Given the description of an element on the screen output the (x, y) to click on. 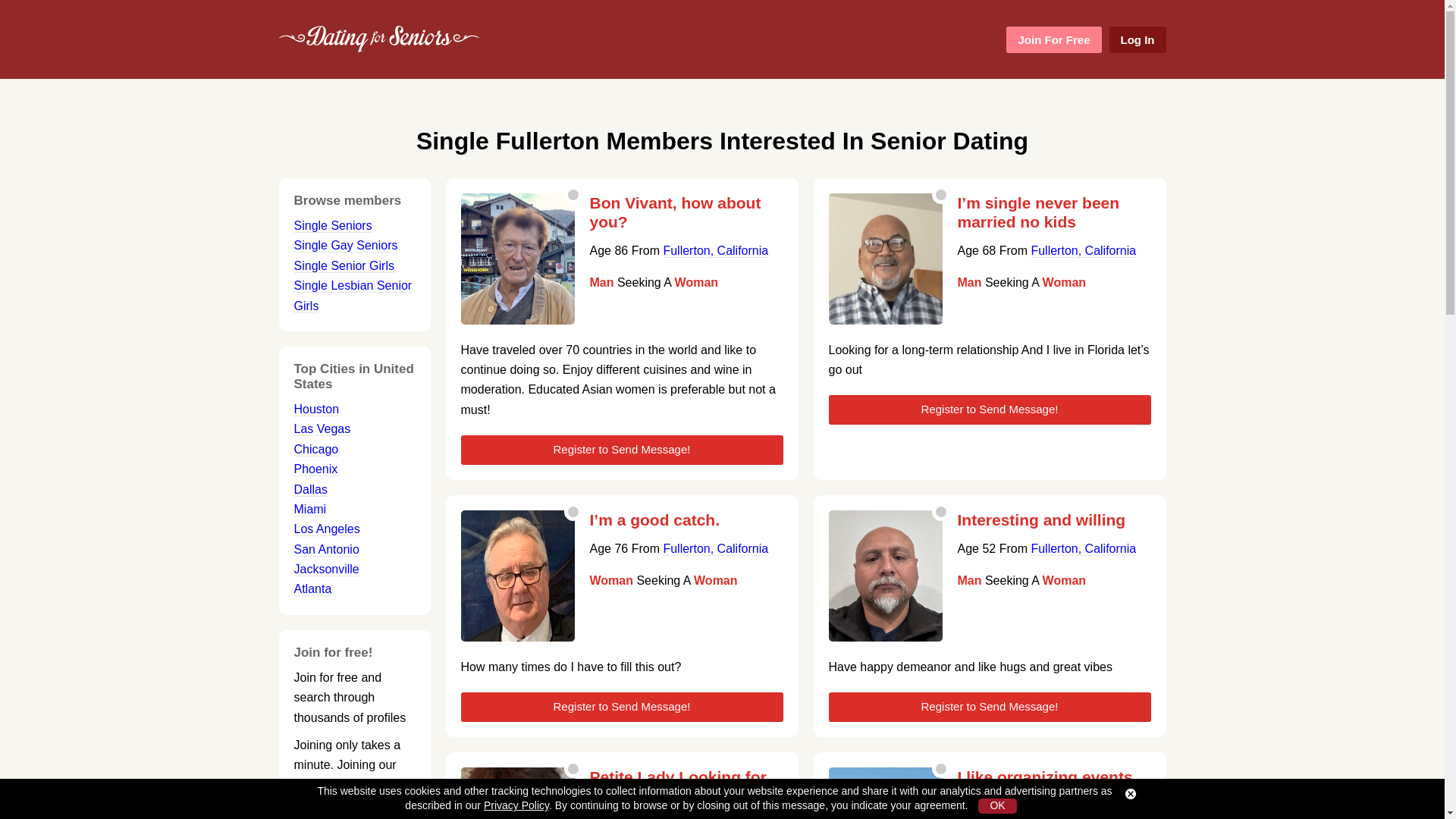
Close (1130, 793)
Single Senior Girls (344, 265)
Join For Free (1053, 39)
Privacy Policy (515, 805)
Single Seniors (333, 225)
Single Gay Seniors (345, 245)
Log In (1137, 39)
OK (997, 806)
